Given the description of an element on the screen output the (x, y) to click on. 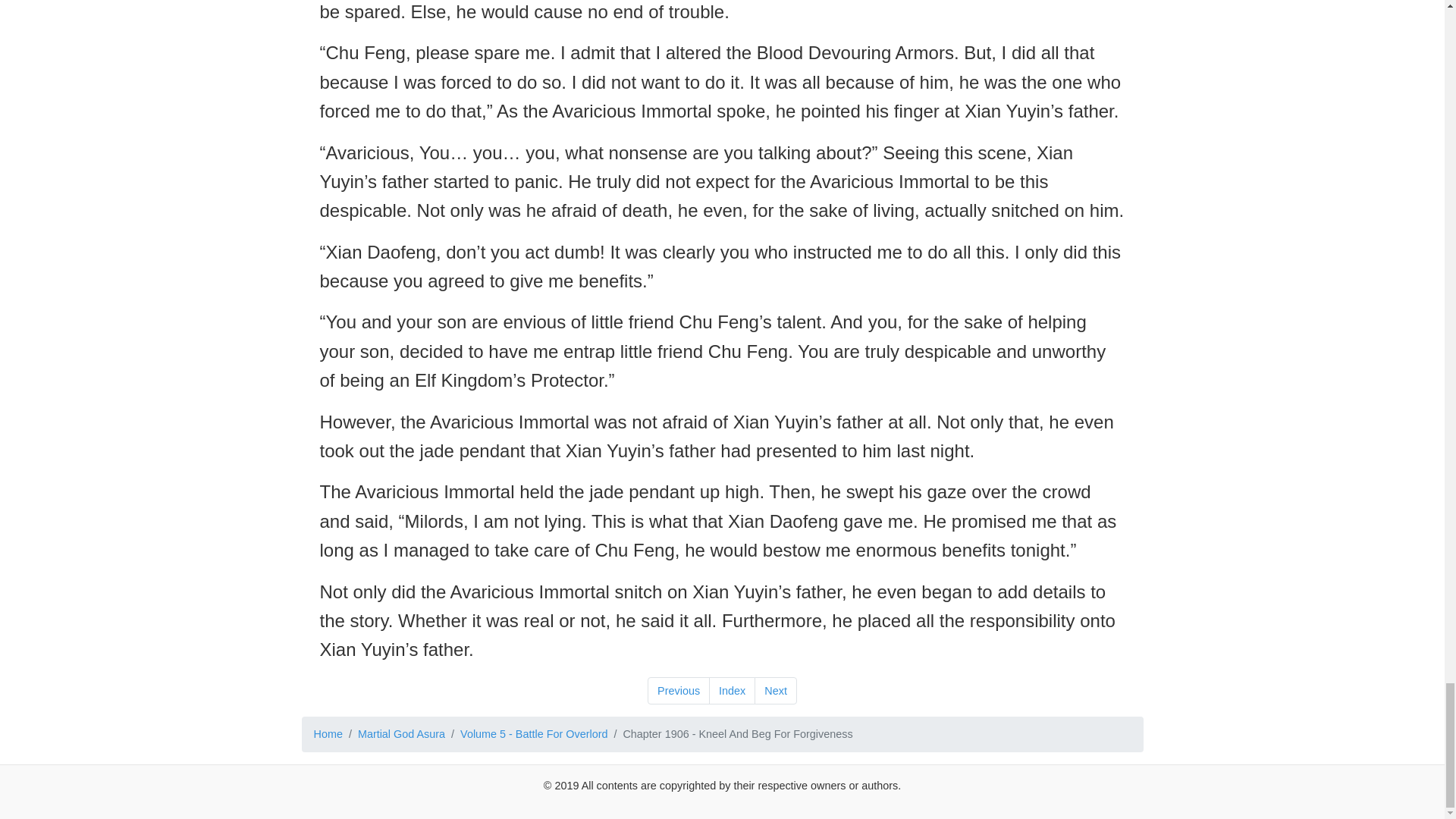
Next (775, 690)
Index (732, 690)
Home (328, 734)
Previous (678, 690)
Martial God Asura (401, 734)
Volume 5 - Battle For Overlord (533, 734)
